Given the description of an element on the screen output the (x, y) to click on. 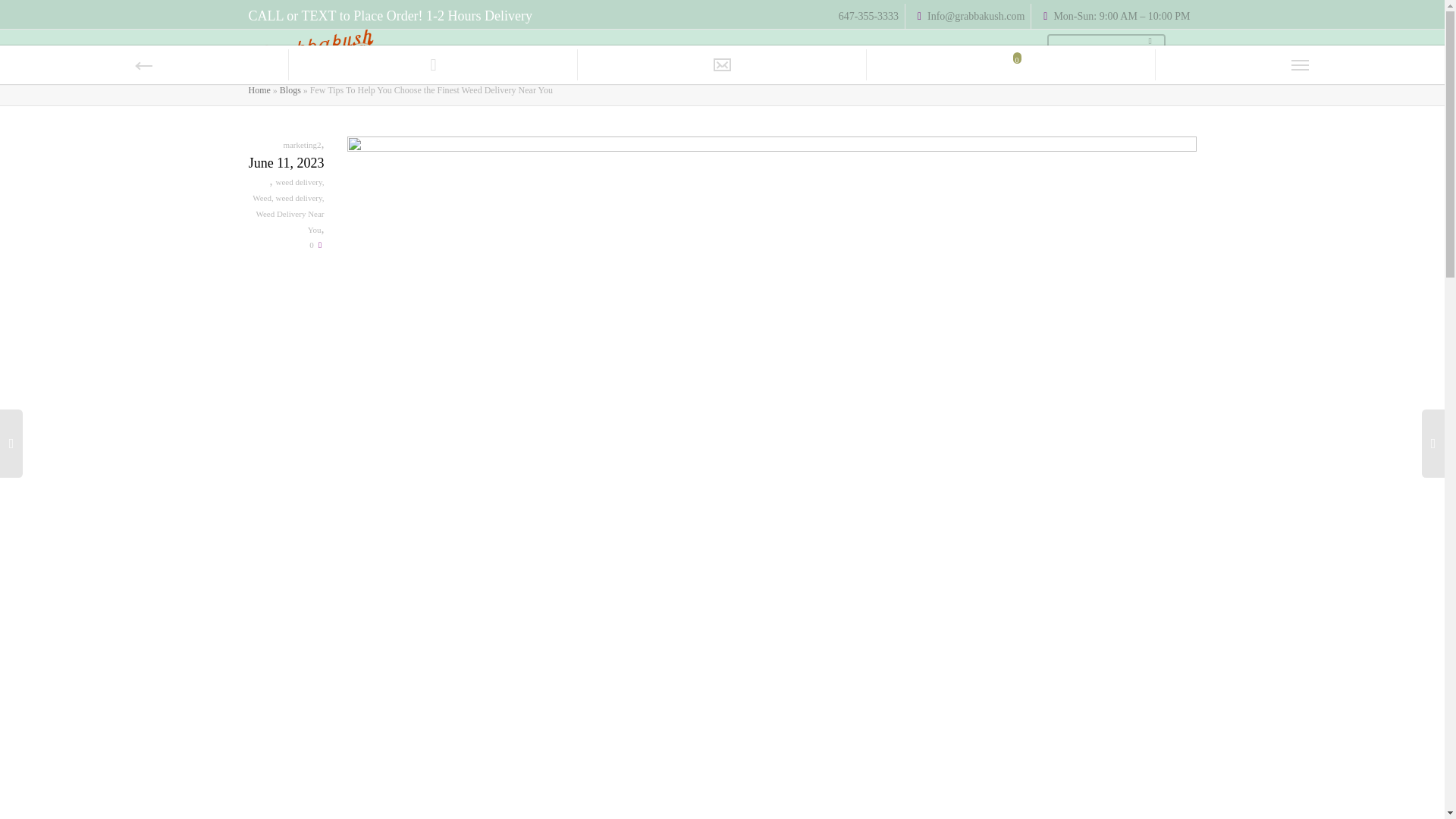
Home (259, 90)
Blogs (290, 90)
June 11, 2023 (286, 163)
weed delivery (298, 197)
PROMOTIONS (1105, 52)
Weed (260, 197)
Grabbakush (312, 51)
LOCATIONS (999, 52)
Weed Delivery Near You (289, 221)
marketing2 (301, 144)
